Given the description of an element on the screen output the (x, y) to click on. 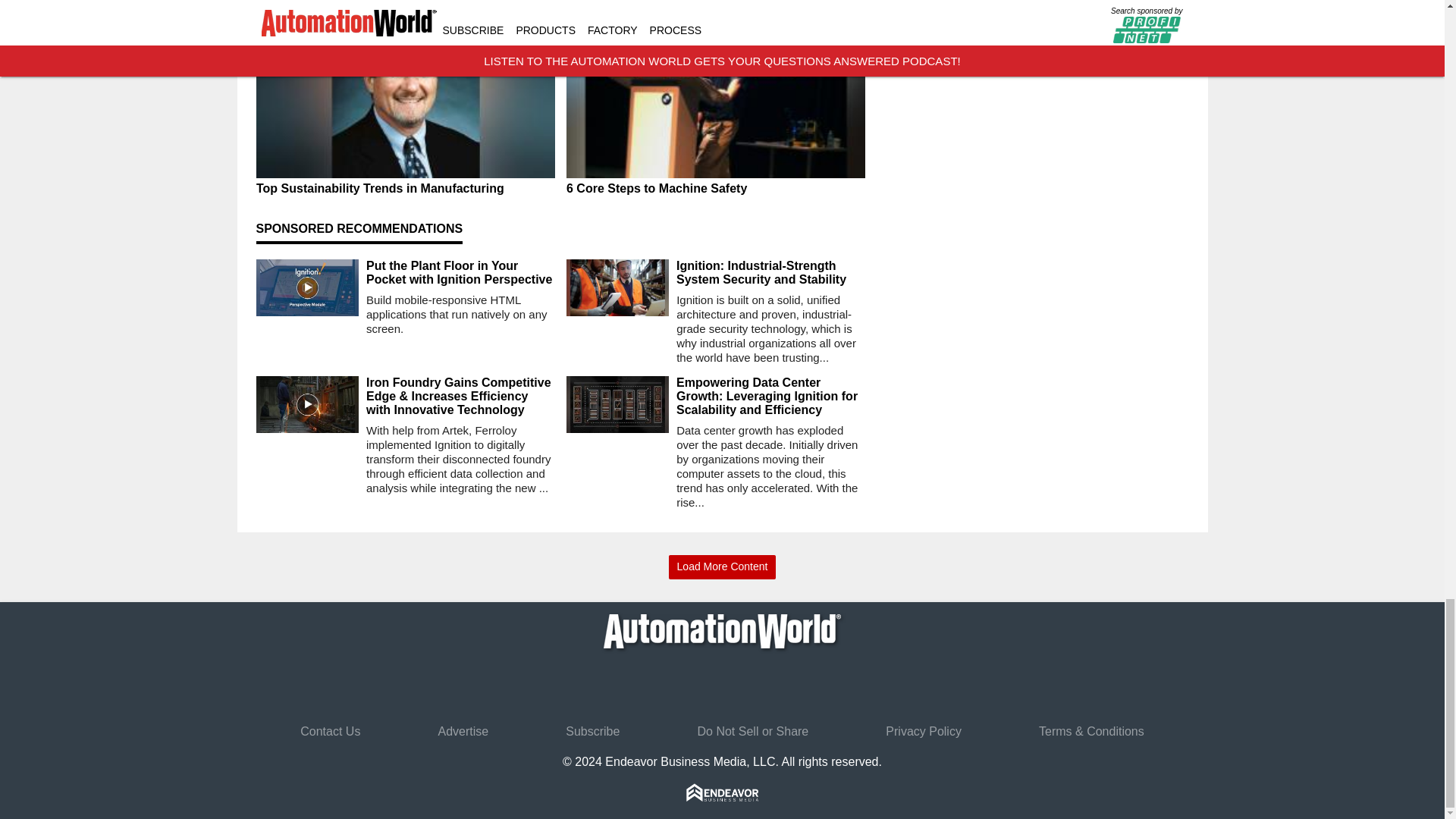
Top Sustainability Trends in Manufacturing (405, 188)
Put the Plant Floor in Your Pocket with Ignition Perspective (459, 272)
6 Core Steps to Machine Safety (715, 189)
Ignition: Industrial-Strength System Security and Stability (770, 272)
